Given the description of an element on the screen output the (x, y) to click on. 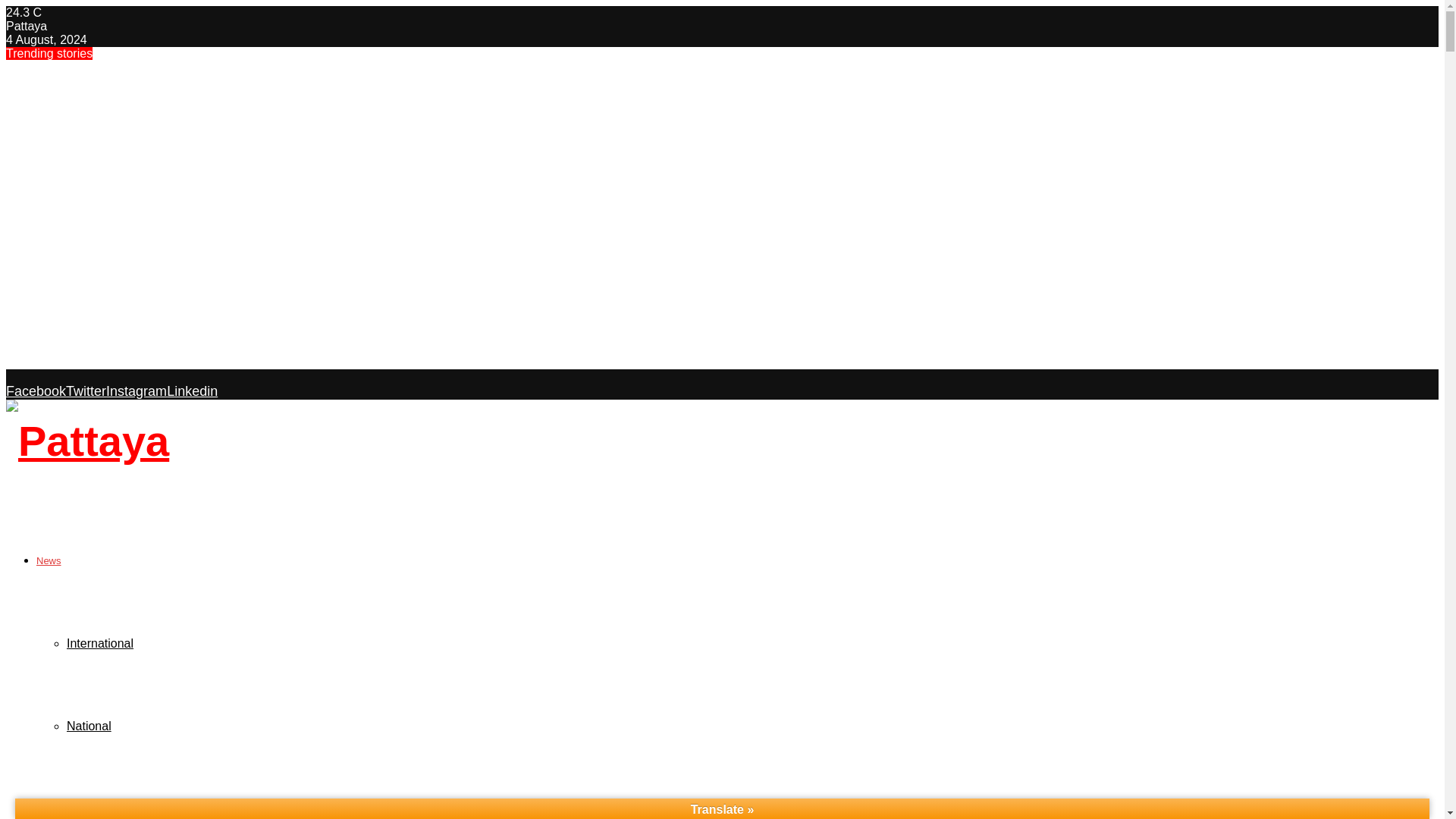
700,000 baht extortion case (97, 236)
Police raid Chinese supermarkets (118, 175)
News (48, 560)
Pattaya One News (147, 808)
Twitter (85, 391)
Thai Man Apprehended After Rampage (135, 82)
Ex Footballer Ian Heddle sexually abused girls in Thailand (201, 360)
National (89, 725)
Instagram (136, 391)
Twitter (85, 391)
Facebook (35, 391)
Instagram (136, 391)
Facebook (35, 391)
Linkedin (191, 391)
Peeping Tom escapes Lynching (113, 206)
